Given the description of an element on the screen output the (x, y) to click on. 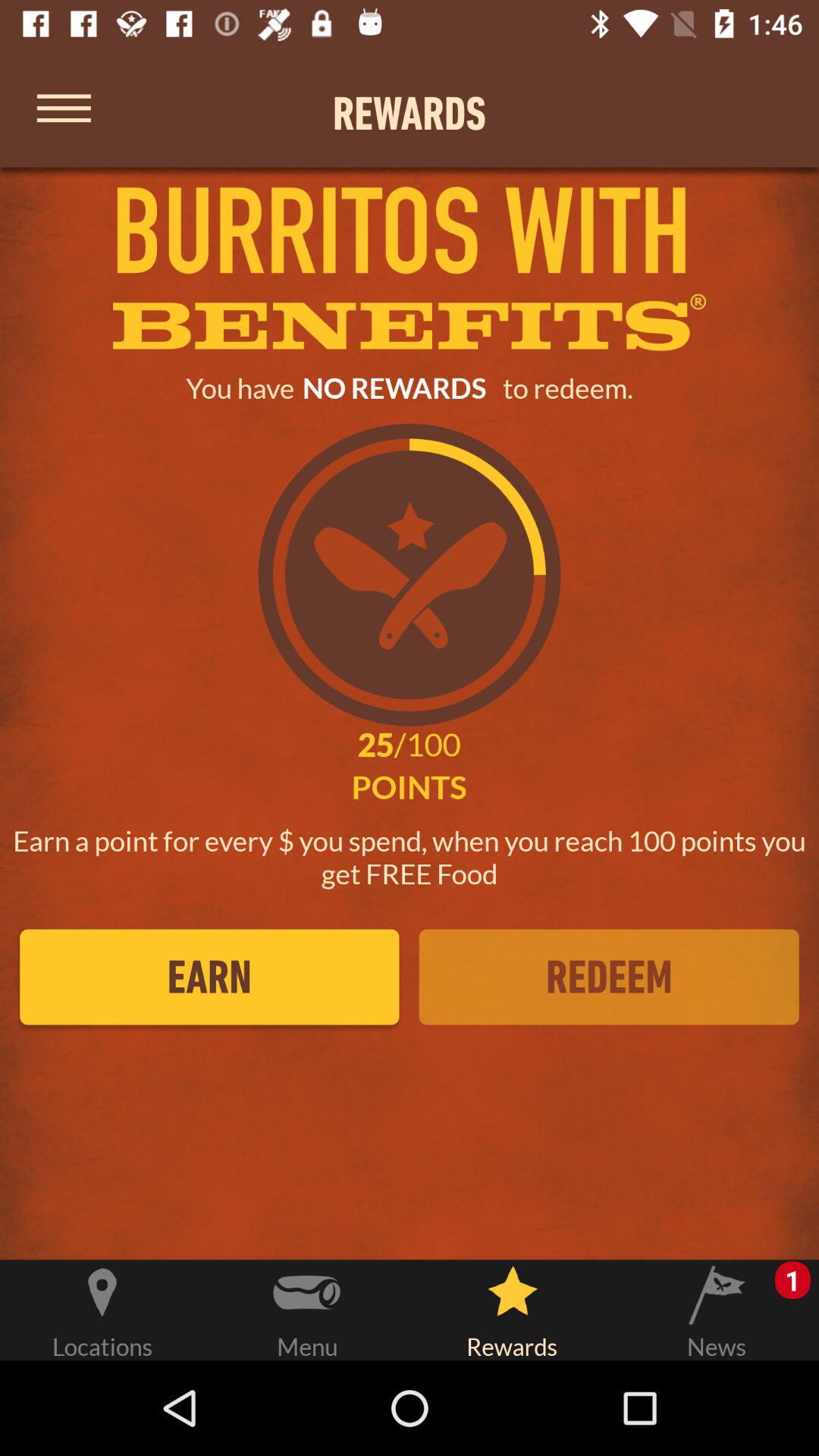
click the last button at bottom right corner of the page (716, 1307)
click on rewards (511, 1307)
